Given the description of an element on the screen output the (x, y) to click on. 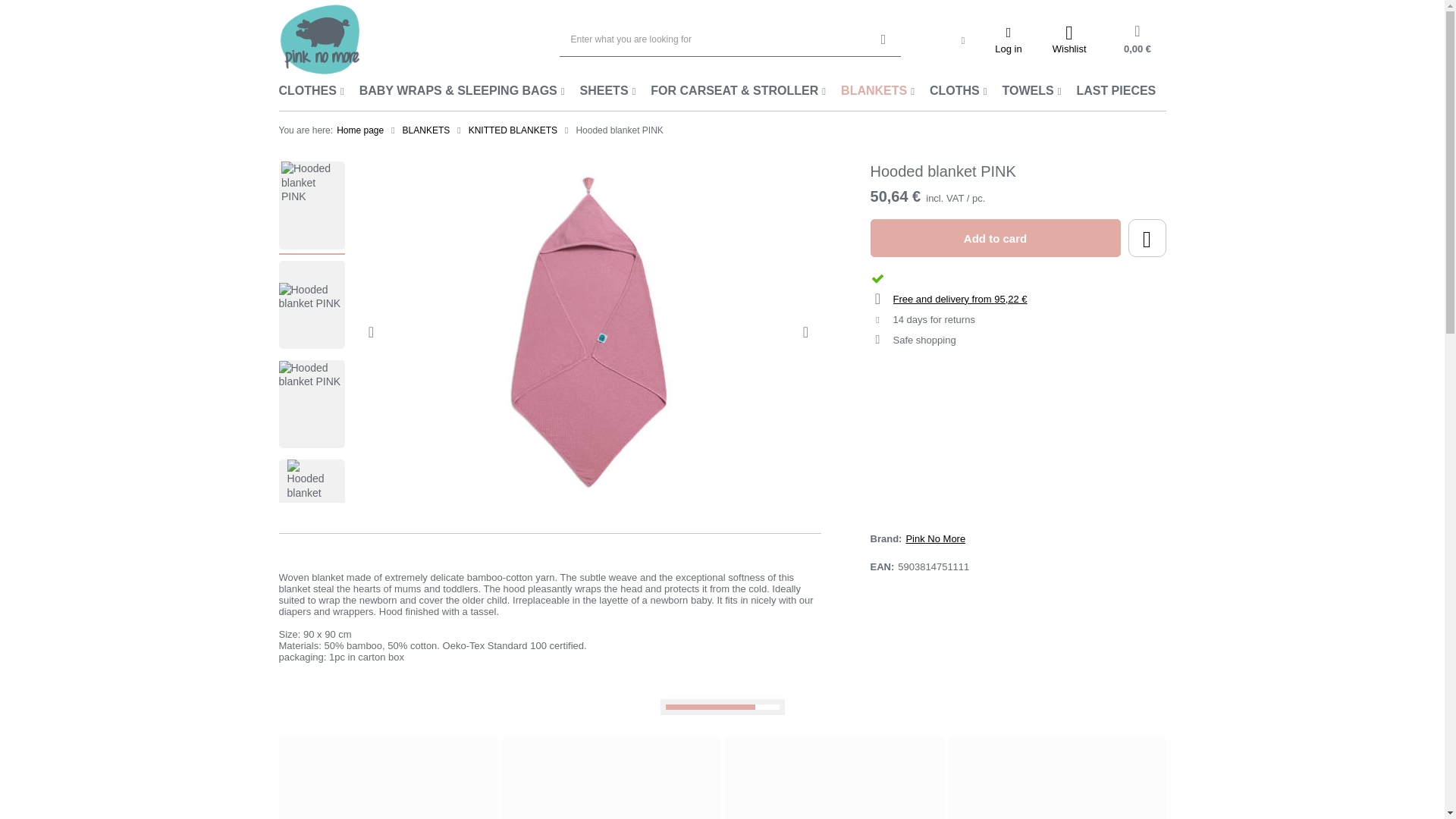
CLOTHES (311, 91)
CLOTHES (311, 91)
Wishlist (1069, 39)
SHEETS (607, 91)
